Given the description of an element on the screen output the (x, y) to click on. 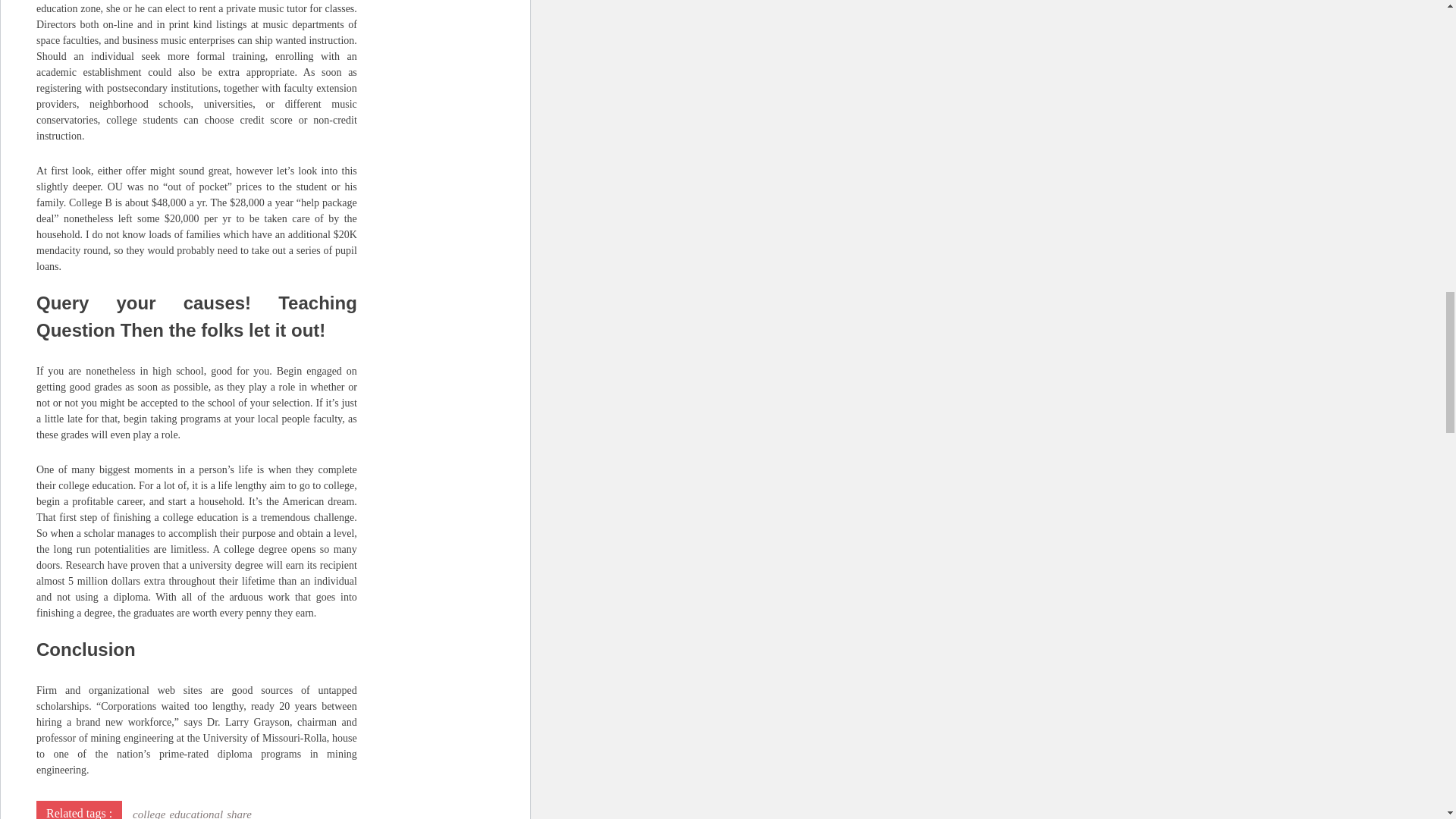
educational (195, 813)
college (148, 813)
